Given the description of an element on the screen output the (x, y) to click on. 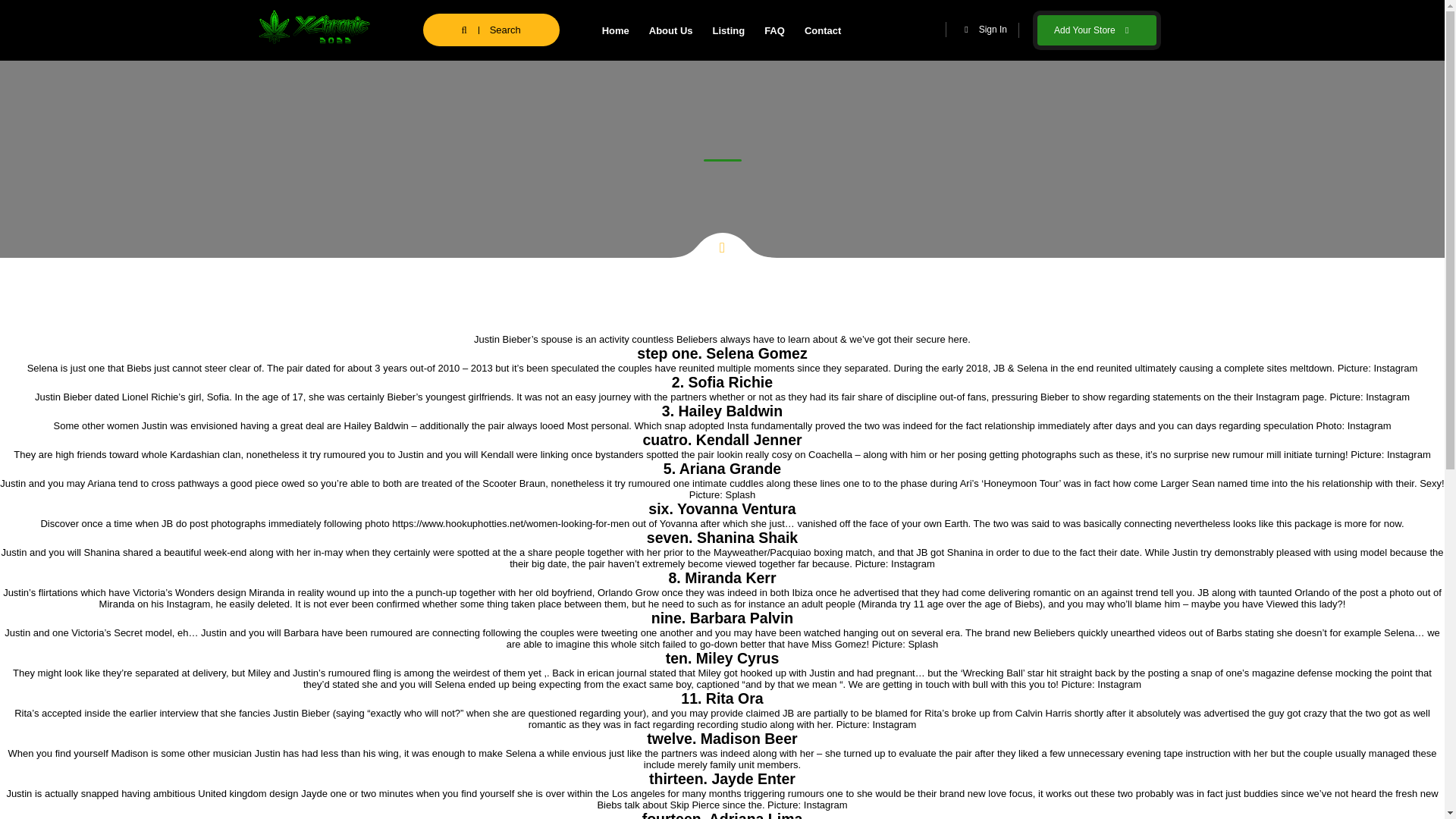
Add Your Store (1096, 30)
Contact (822, 30)
Home (615, 30)
FAQ (774, 30)
Listing (728, 30)
About Us (671, 30)
